Given the description of an element on the screen output the (x, y) to click on. 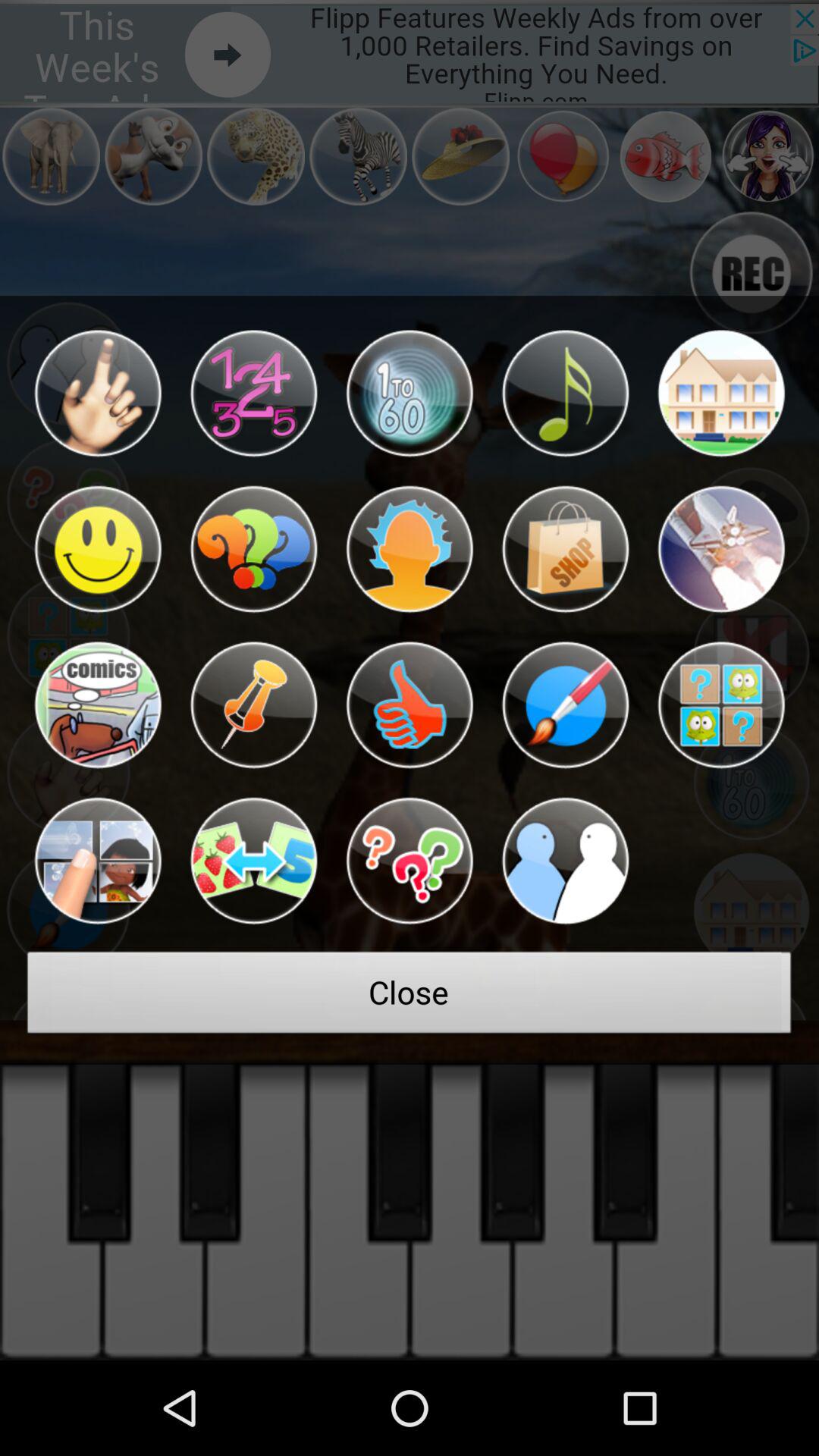
ask a question (409, 861)
